Given the description of an element on the screen output the (x, y) to click on. 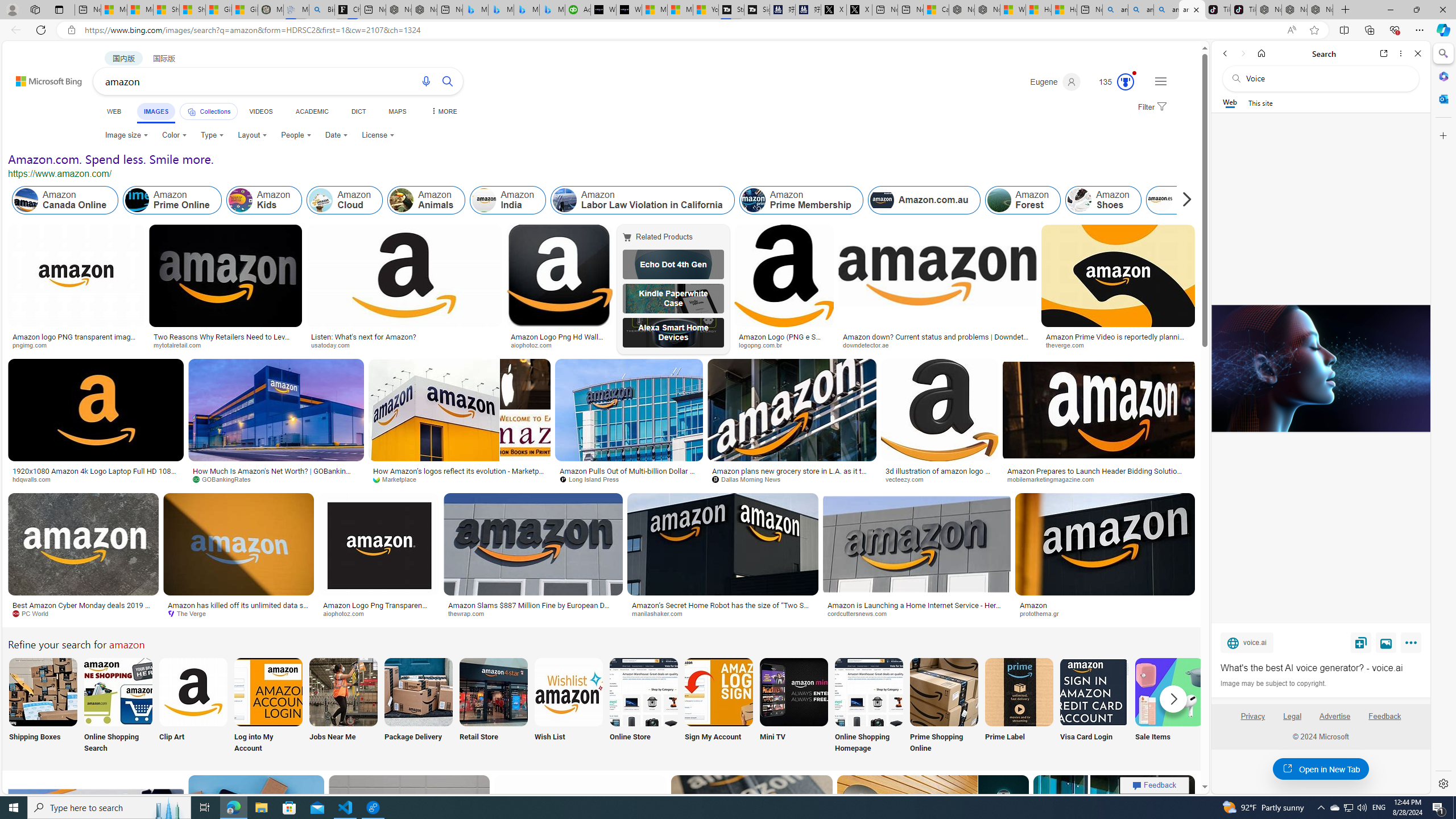
Long Island Press (628, 479)
Wildlife - MSN (1012, 9)
Amazon Prime Online (172, 199)
Amazon Clip Art (192, 691)
mytotalretail.com (224, 344)
GOBankingRates (275, 479)
mobilemarketingmagazine.com (1054, 479)
hdqwalls.com (35, 479)
Color (173, 135)
Microsoft Rewards 135 (1111, 81)
Amazon Cloud (320, 200)
Type (212, 135)
